Given the description of an element on the screen output the (x, y) to click on. 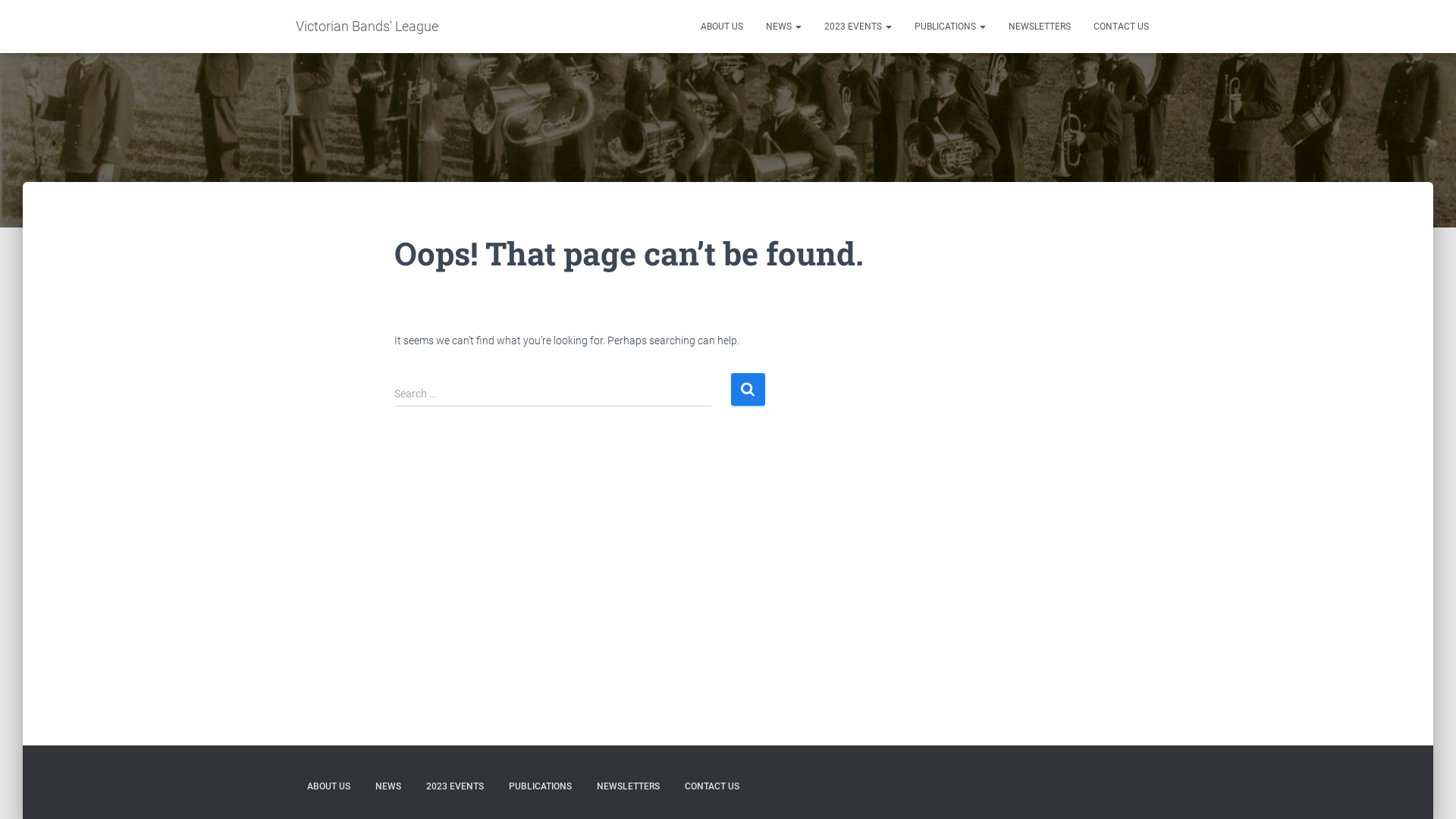
PUBLICATIONS Element type: text (540, 786)
CONTACT US Element type: text (1121, 26)
ABOUT US Element type: text (721, 26)
NEWSLETTERS Element type: text (1039, 26)
NEWS Element type: text (783, 26)
Search Element type: text (748, 389)
ABOUT US Element type: text (328, 786)
2023 EVENTS Element type: text (454, 786)
2023 EVENTS Element type: text (857, 26)
CONTACT US Element type: text (711, 786)
NEWS Element type: text (388, 786)
Victorian Bands' League Element type: text (366, 26)
NEWSLETTERS Element type: text (628, 786)
PUBLICATIONS Element type: text (950, 26)
